Given the description of an element on the screen output the (x, y) to click on. 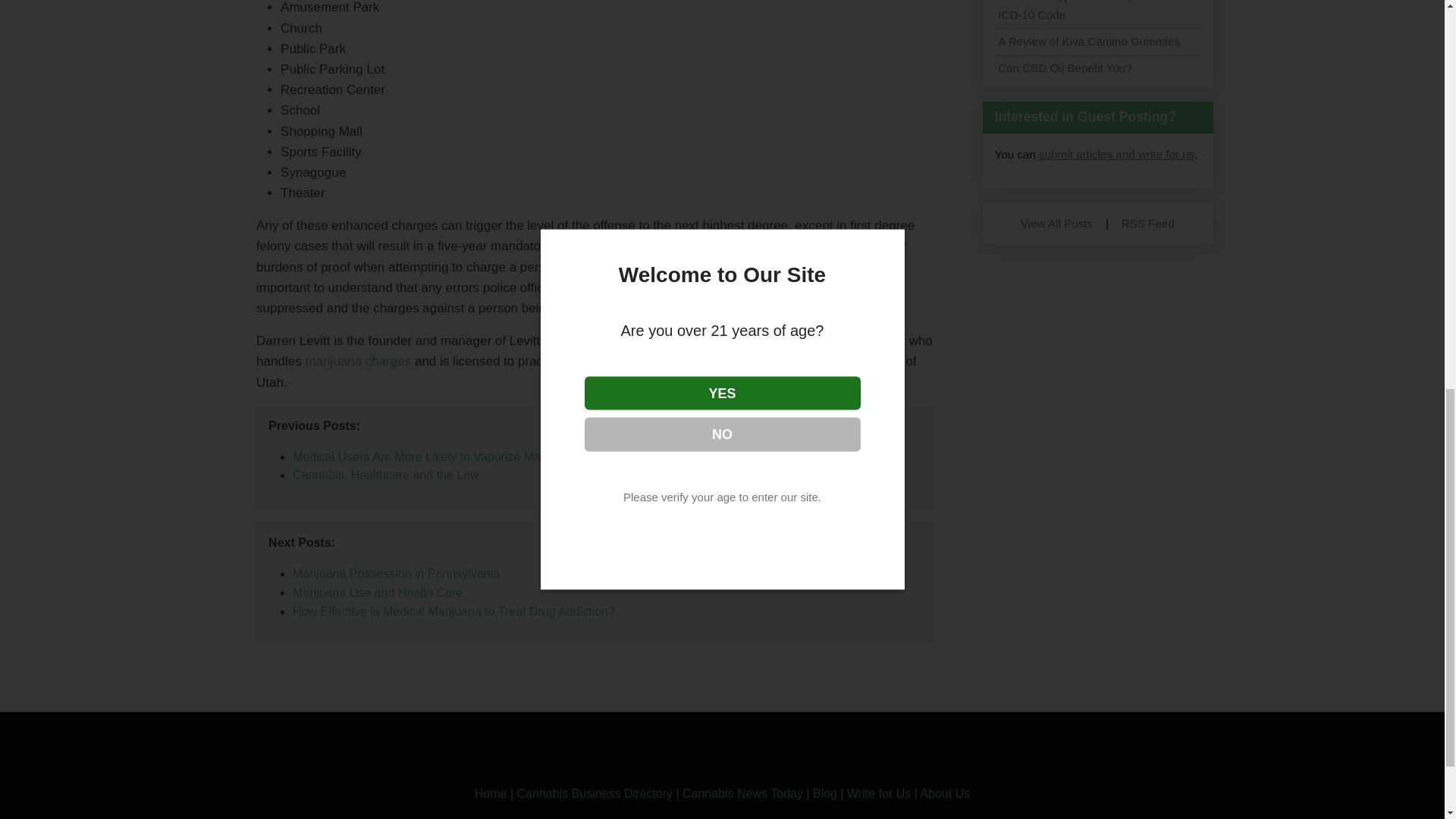
Marijuana Possession in Pennsylvania (395, 573)
Marijuana Use and Health Care (377, 592)
View All Posts (1056, 223)
Cannabis, Healthcare and the Law (385, 474)
Home (490, 793)
A Review of Kiva Camino Gummies (1088, 41)
Can CBD Oil Benefit You? (1064, 67)
Blog (824, 793)
Cannabis Business Directory (594, 793)
marijuana charges (357, 360)
submit articles and write for us (1116, 154)
RSS Feed (1147, 223)
How Effective Is Medical Marijuana to Treat Drug Addiction? (453, 611)
Cannabis News Today (742, 793)
